Given the description of an element on the screen output the (x, y) to click on. 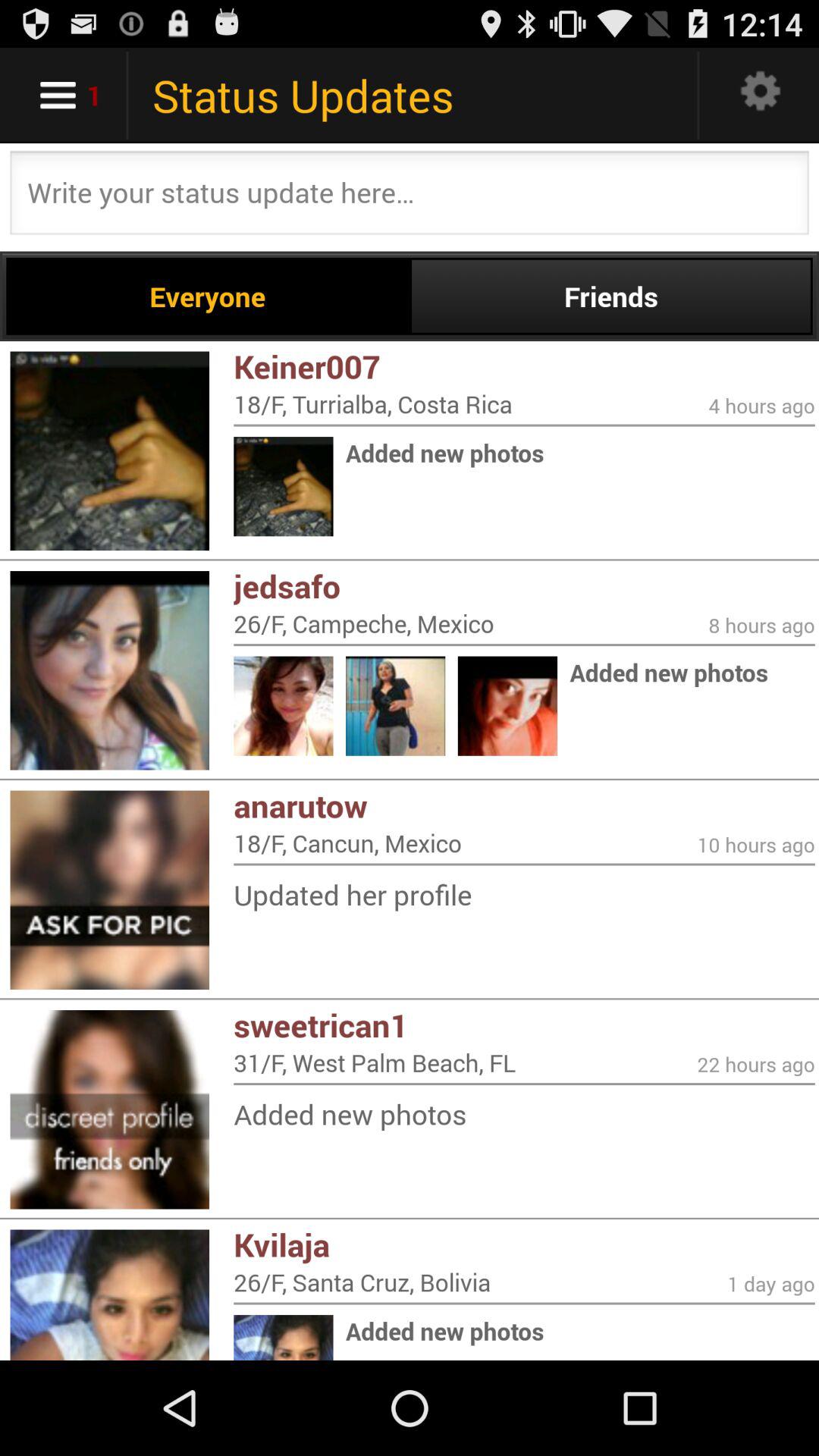
click icon below the added new photos icon (524, 1244)
